Given the description of an element on the screen output the (x, y) to click on. 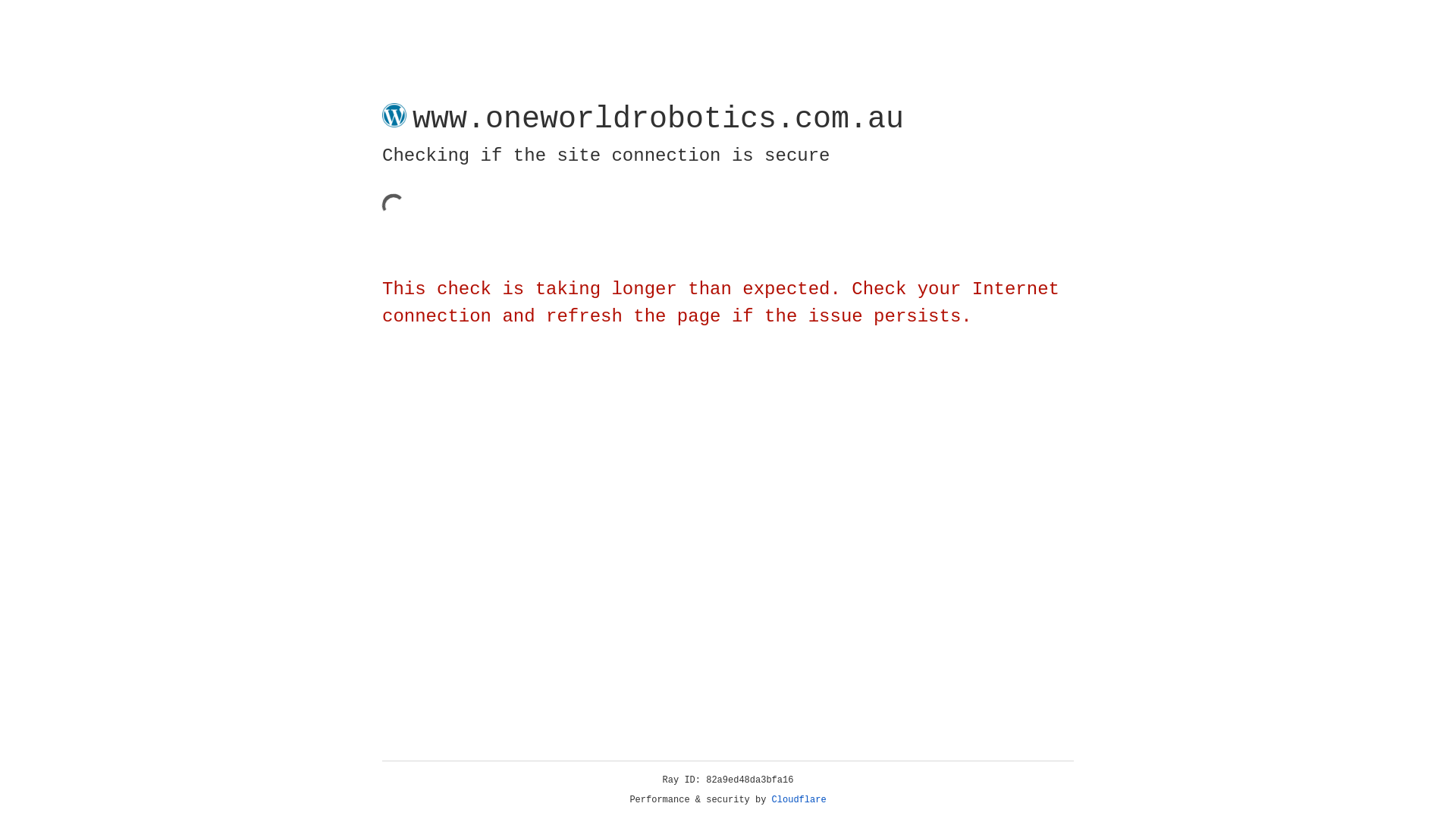
Cloudflare Element type: text (798, 799)
